Given the description of an element on the screen output the (x, y) to click on. 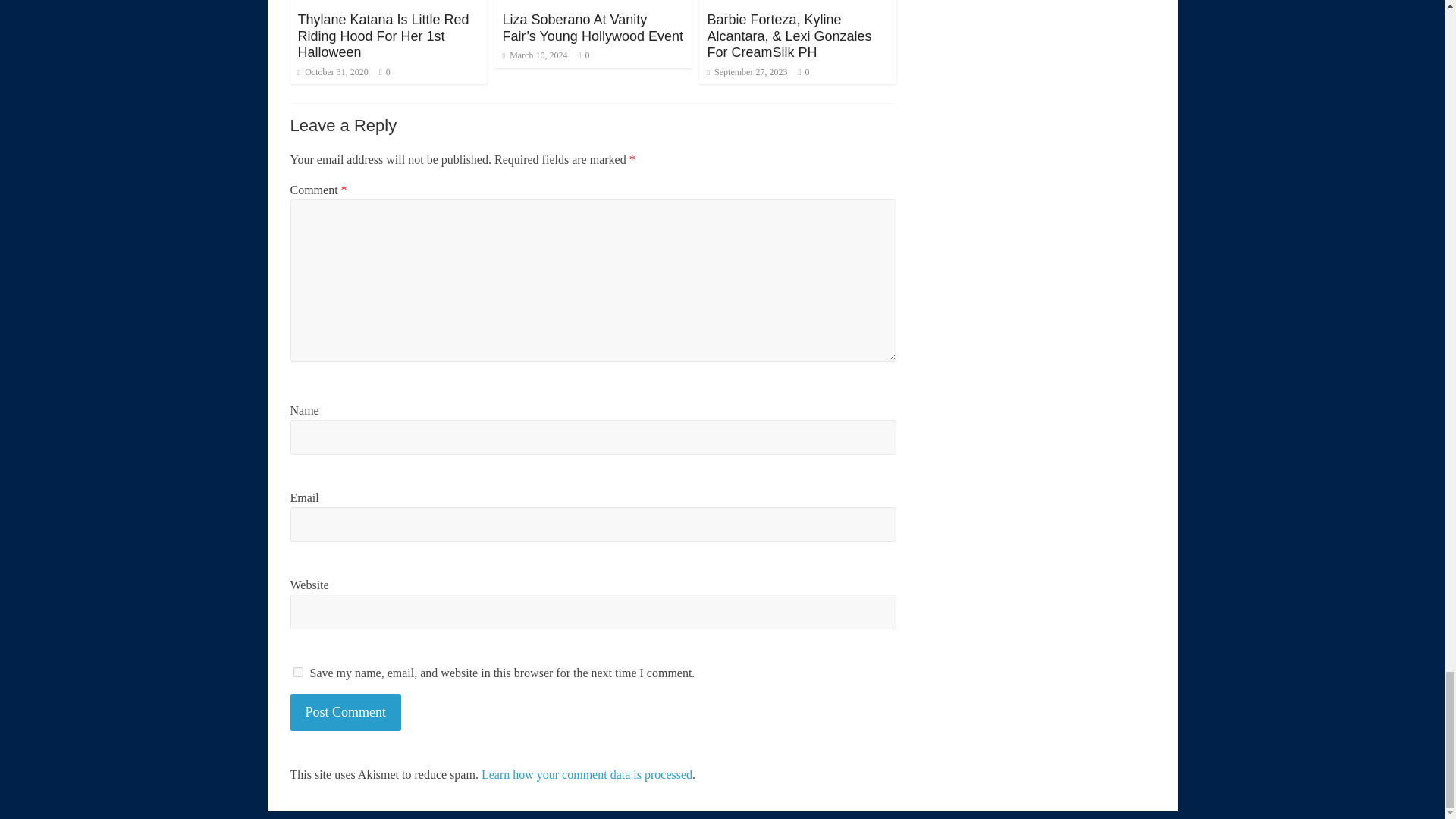
9:32 am (534, 54)
yes (297, 672)
Post Comment (345, 712)
7:54 pm (332, 71)
